Given the description of an element on the screen output the (x, y) to click on. 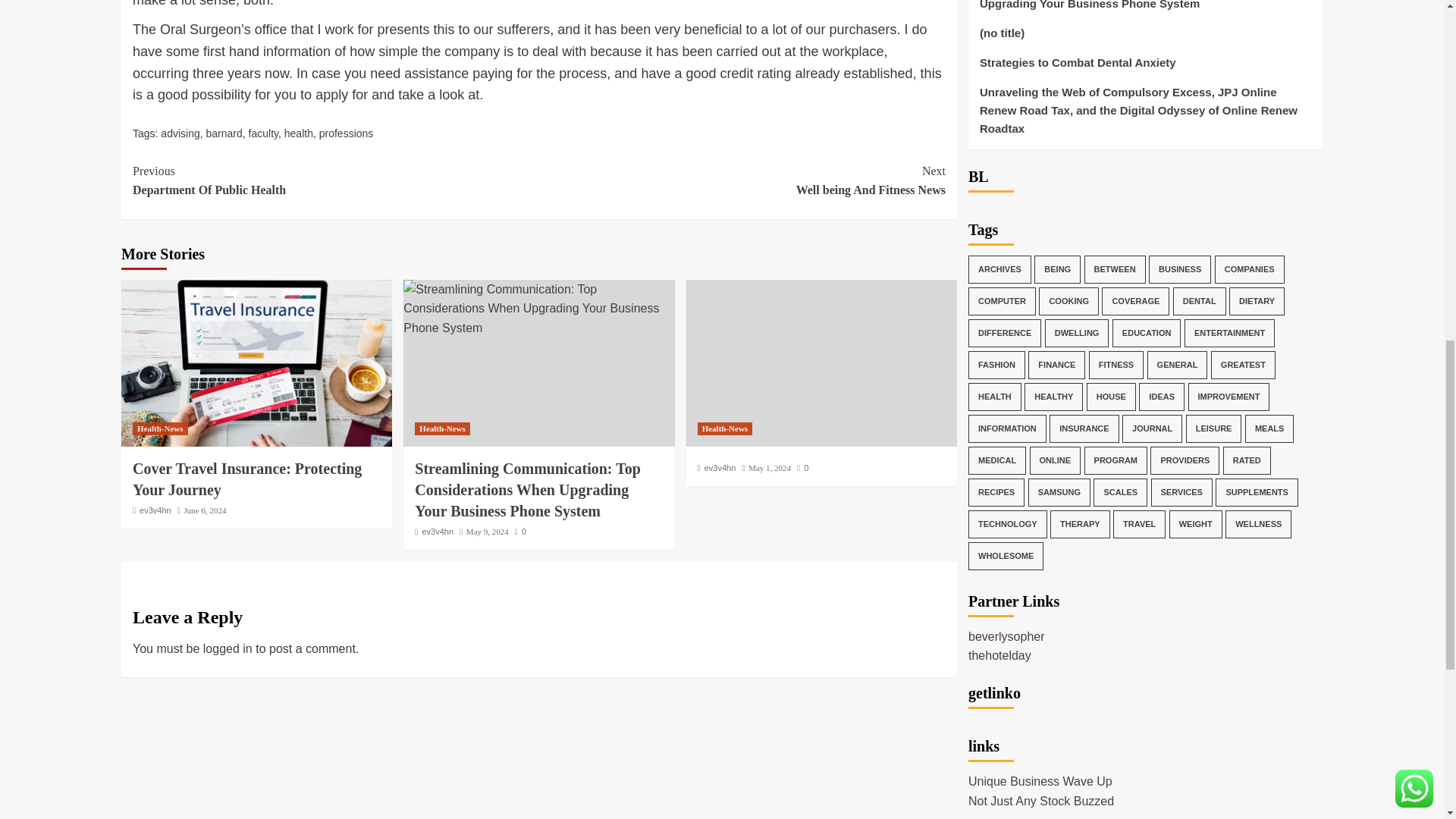
faculty (263, 133)
Health-News (159, 428)
barnard (741, 180)
Health-News (224, 133)
health (442, 428)
May 9, 2024 (335, 180)
June 6, 2024 (298, 133)
Cover Travel Insurance: Protecting Your Journey (486, 531)
advising (205, 510)
ev3v4hn (255, 363)
Cover Travel Insurance: Protecting Your Journey (179, 133)
ev3v4hn (155, 510)
